Given the description of an element on the screen output the (x, y) to click on. 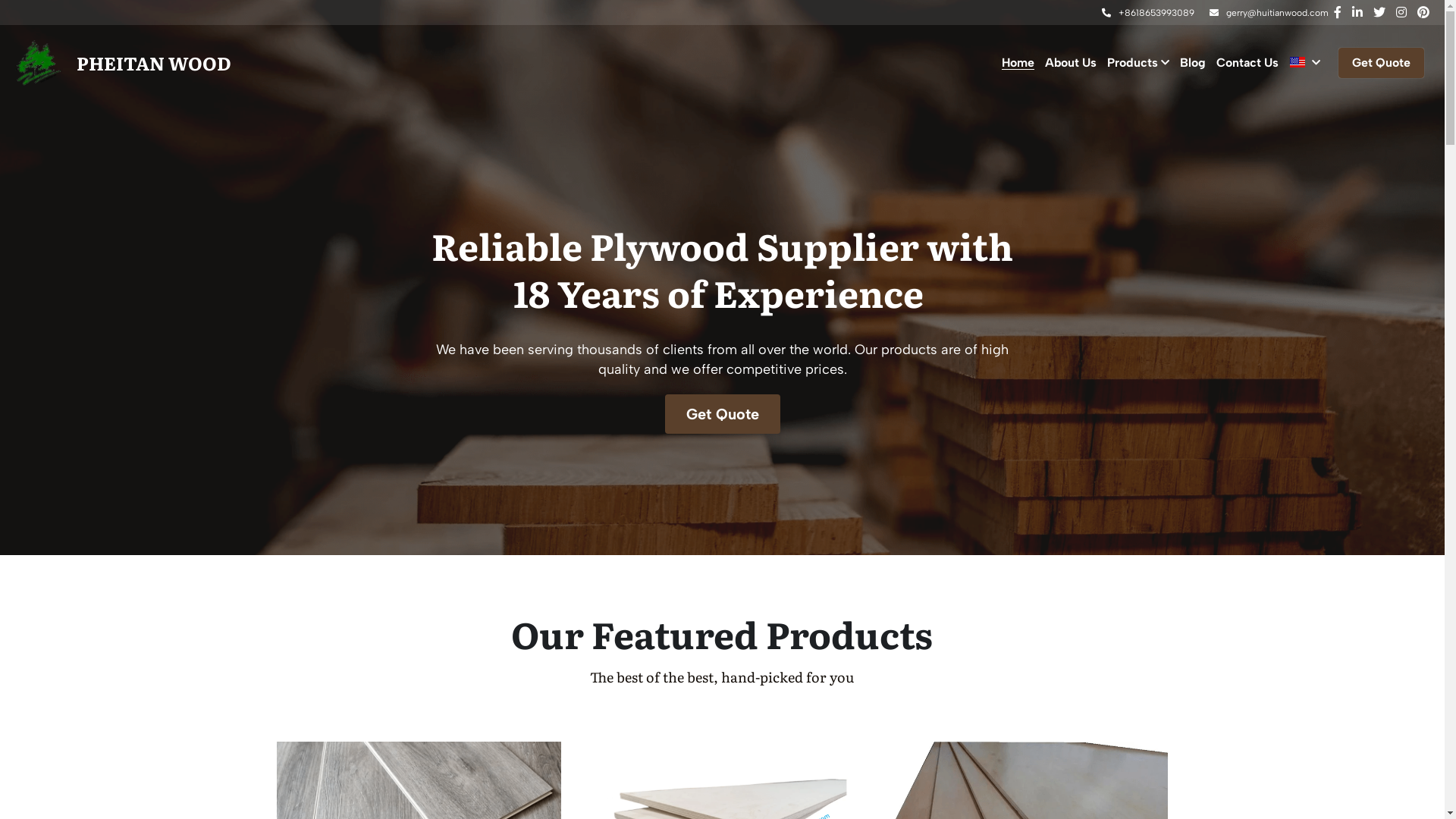
Get Quote Element type: text (721, 413)
Contact Us Element type: text (1247, 62)
Blog Element type: text (1192, 62)
About Us Element type: text (1070, 62)
Get Quote Element type: text (1381, 62)
Home Element type: text (1017, 62)
